Given the description of an element on the screen output the (x, y) to click on. 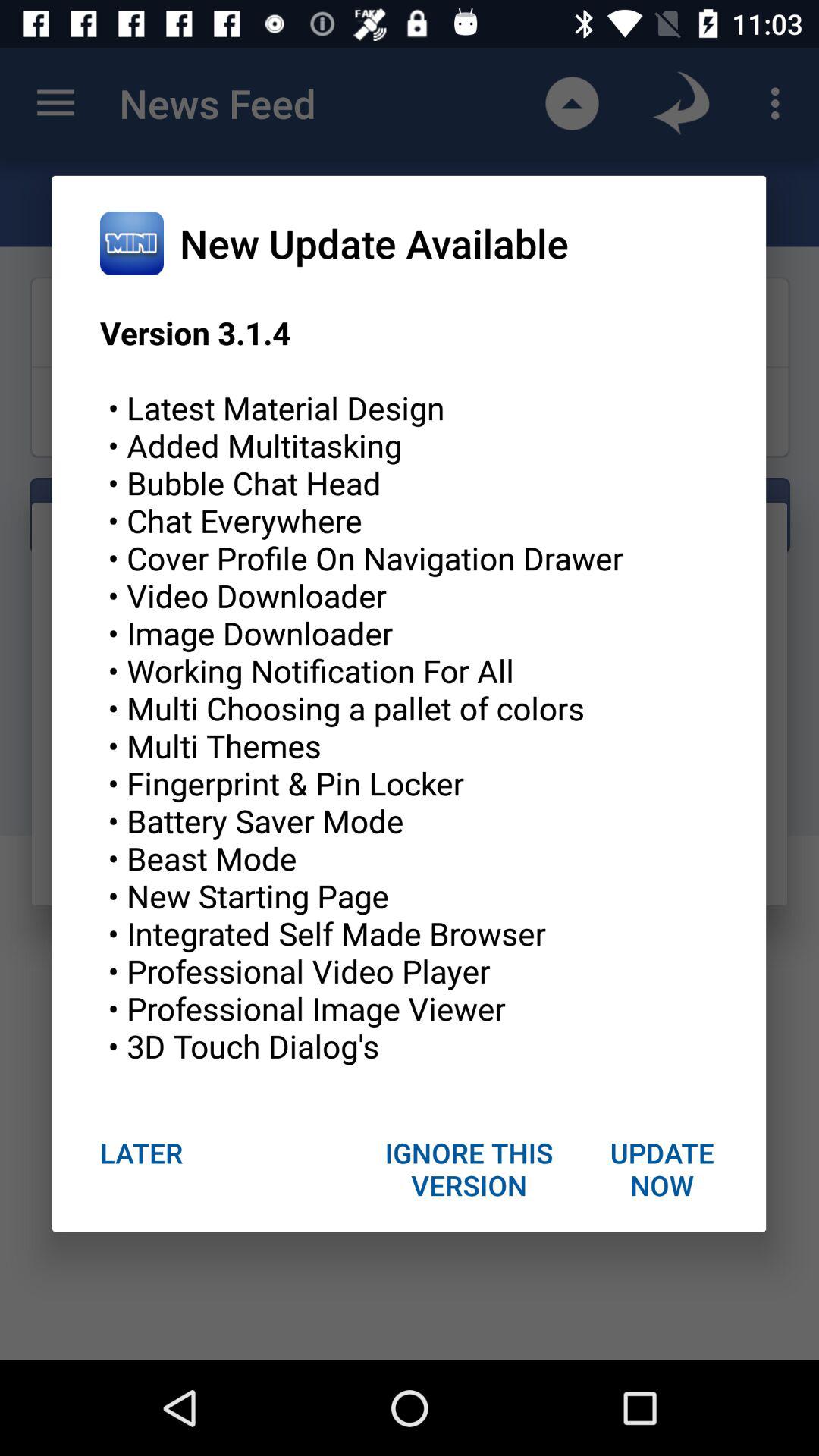
scroll to update
now (661, 1168)
